Given the description of an element on the screen output the (x, y) to click on. 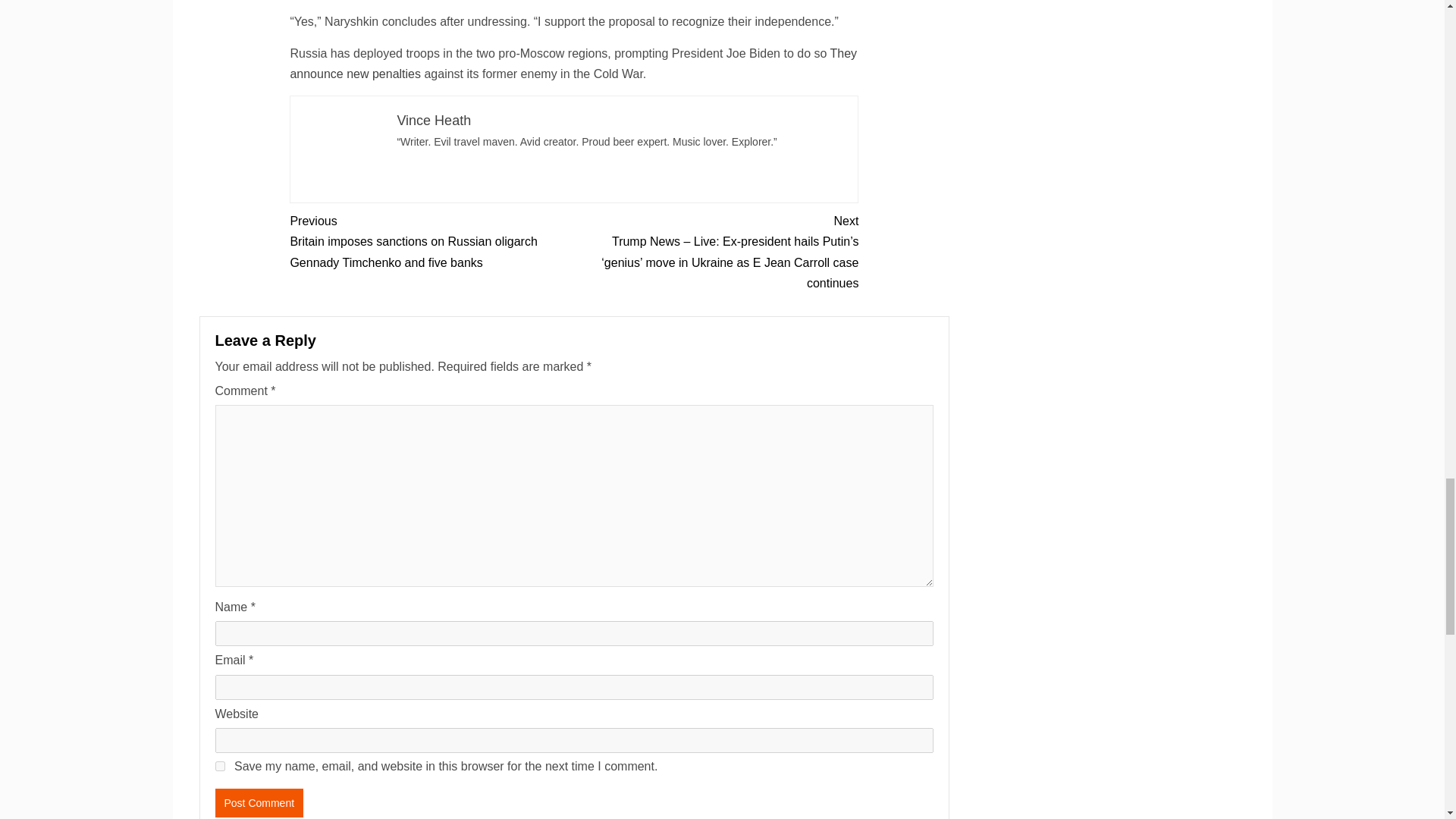
Post Comment (259, 802)
Vince Heath (433, 120)
They announce new penalties (573, 63)
yes (220, 766)
Post Comment (259, 802)
